Given the description of an element on the screen output the (x, y) to click on. 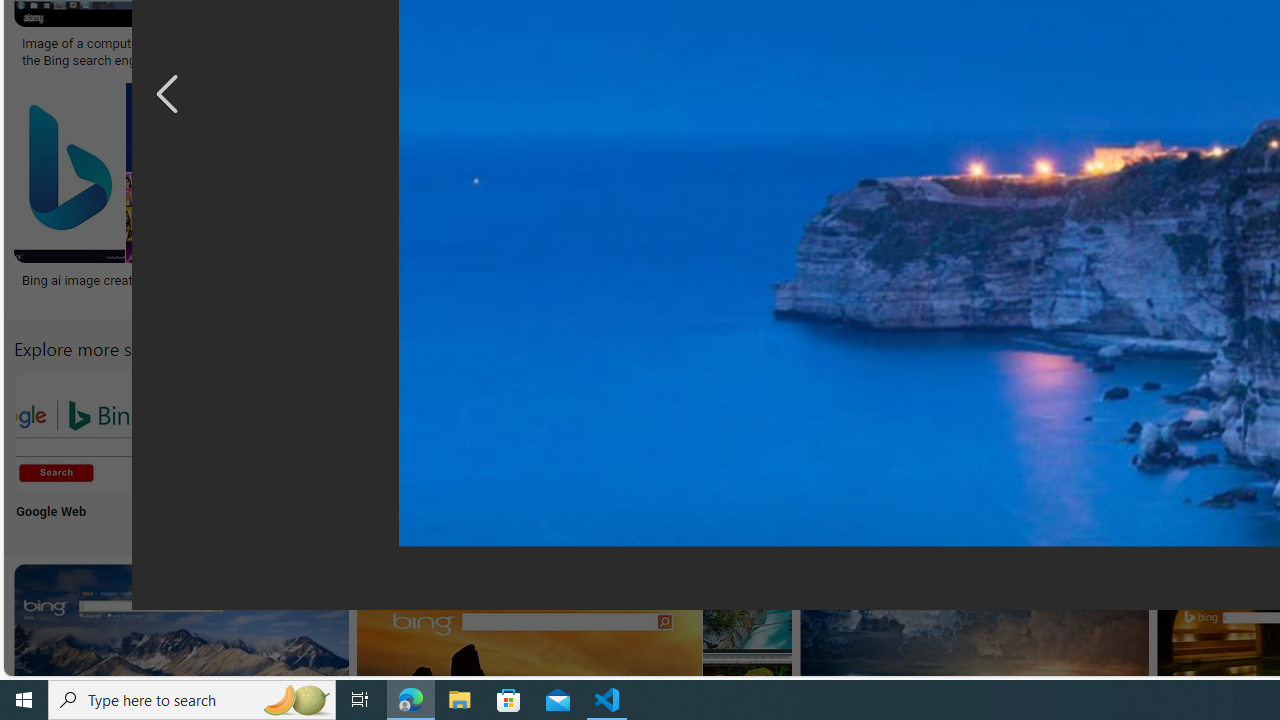
Bing Photo Search Microsoft Edge Microsoft Edge (472, 450)
Bing Search Results Results (1131, 450)
Bing Search App Icon (735, 432)
Image result for Bing Search Site (747, 608)
App Icon (735, 450)
Bing ai image creatorSave (118, 196)
Download Bing Pictures | Wallpapers.com (1046, 44)
Internet Explorer (339, 450)
Google Web Search Bing Google Web (75, 450)
FIX: Downloading proxy script message on Google Chrome (927, 287)
Bing Search App Logo (207, 432)
App Logo (207, 450)
